Given the description of an element on the screen output the (x, y) to click on. 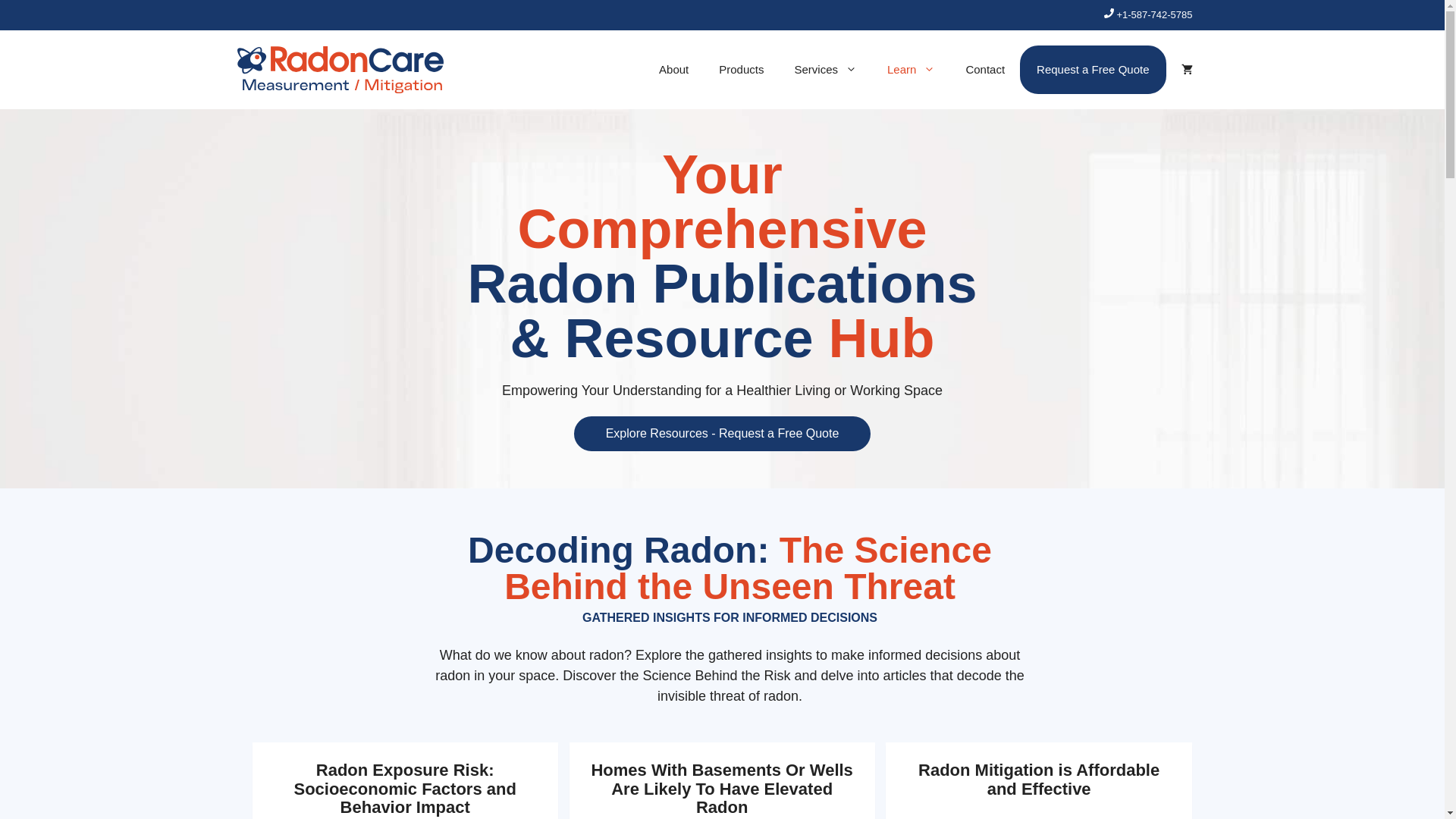
Services (825, 69)
Radon Mitigation is Affordable and Effective (1038, 778)
Learn (911, 69)
Contact (985, 69)
About (673, 69)
Products (740, 69)
Explore Resources - Request a Free Quote (721, 432)
